Given the description of an element on the screen output the (x, y) to click on. 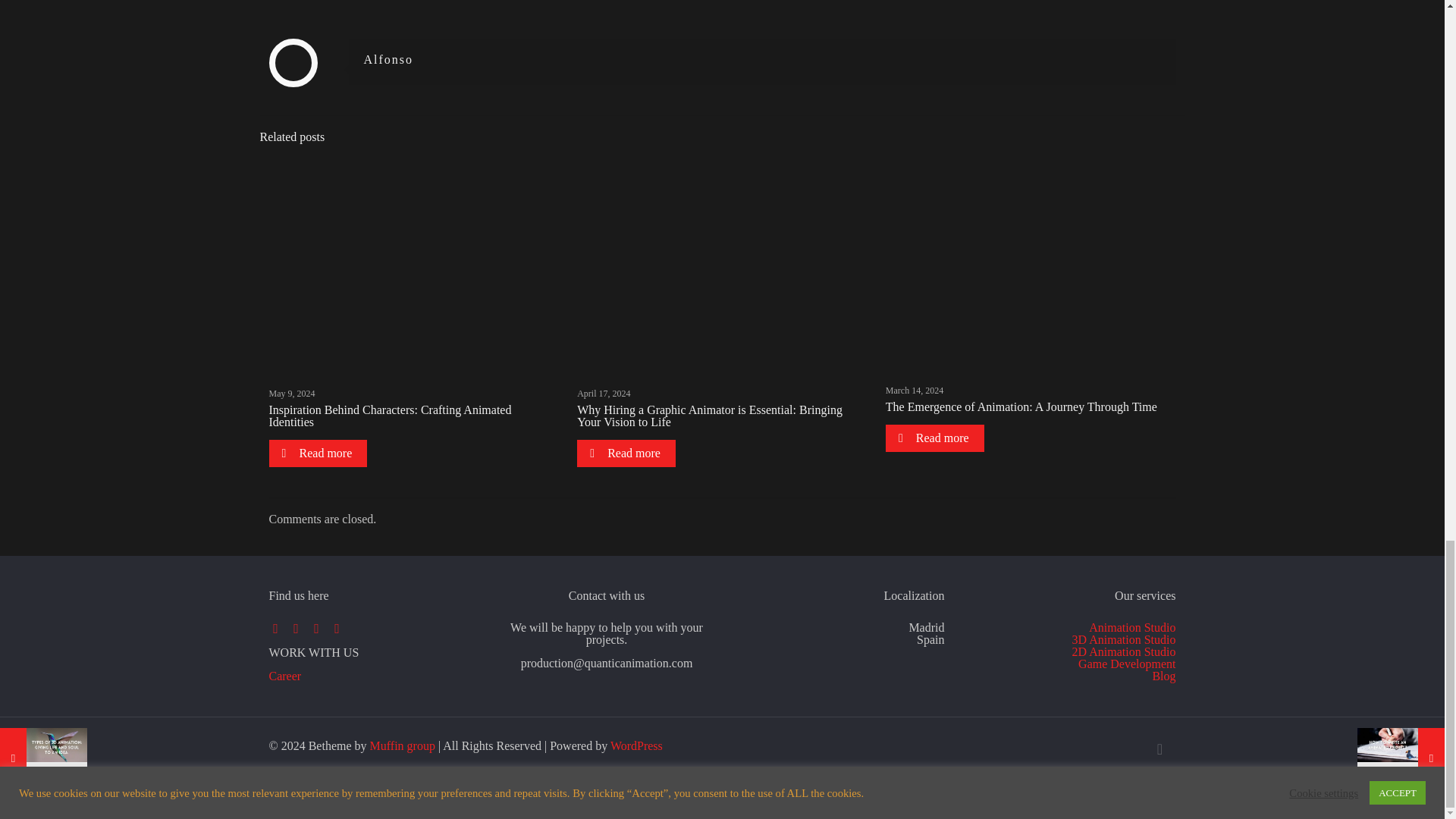
Inspiration Behind Characters: Crafting Animated Identities (389, 415)
Read more (316, 452)
Read more (934, 438)
Alfonso (388, 59)
Read more (625, 452)
The Emergence of Animation: A Journey Through Time (1021, 406)
